Given the description of an element on the screen output the (x, y) to click on. 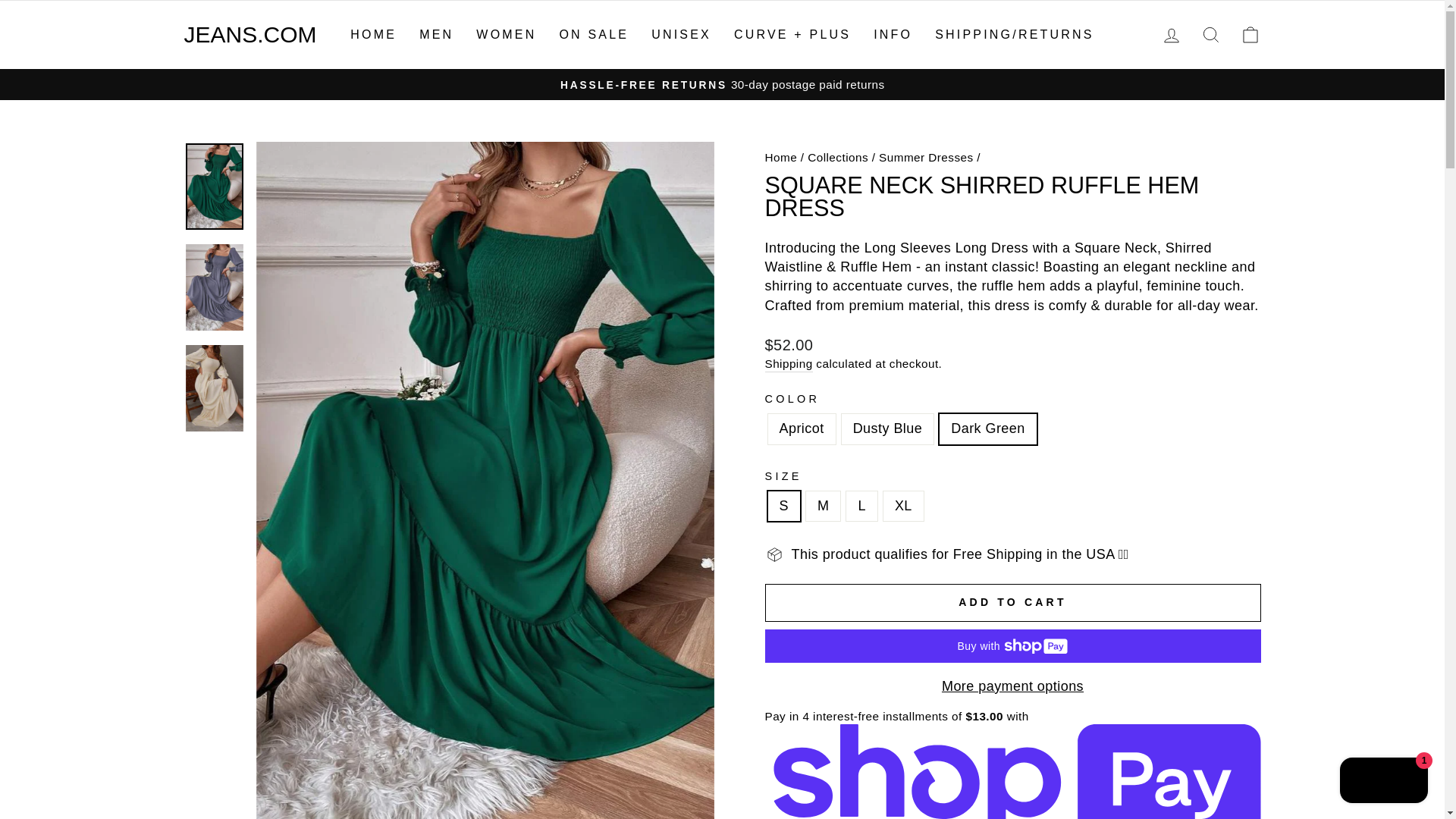
Shopify online store chat (1383, 781)
Back to the frontpage (780, 156)
